Given the description of an element on the screen output the (x, y) to click on. 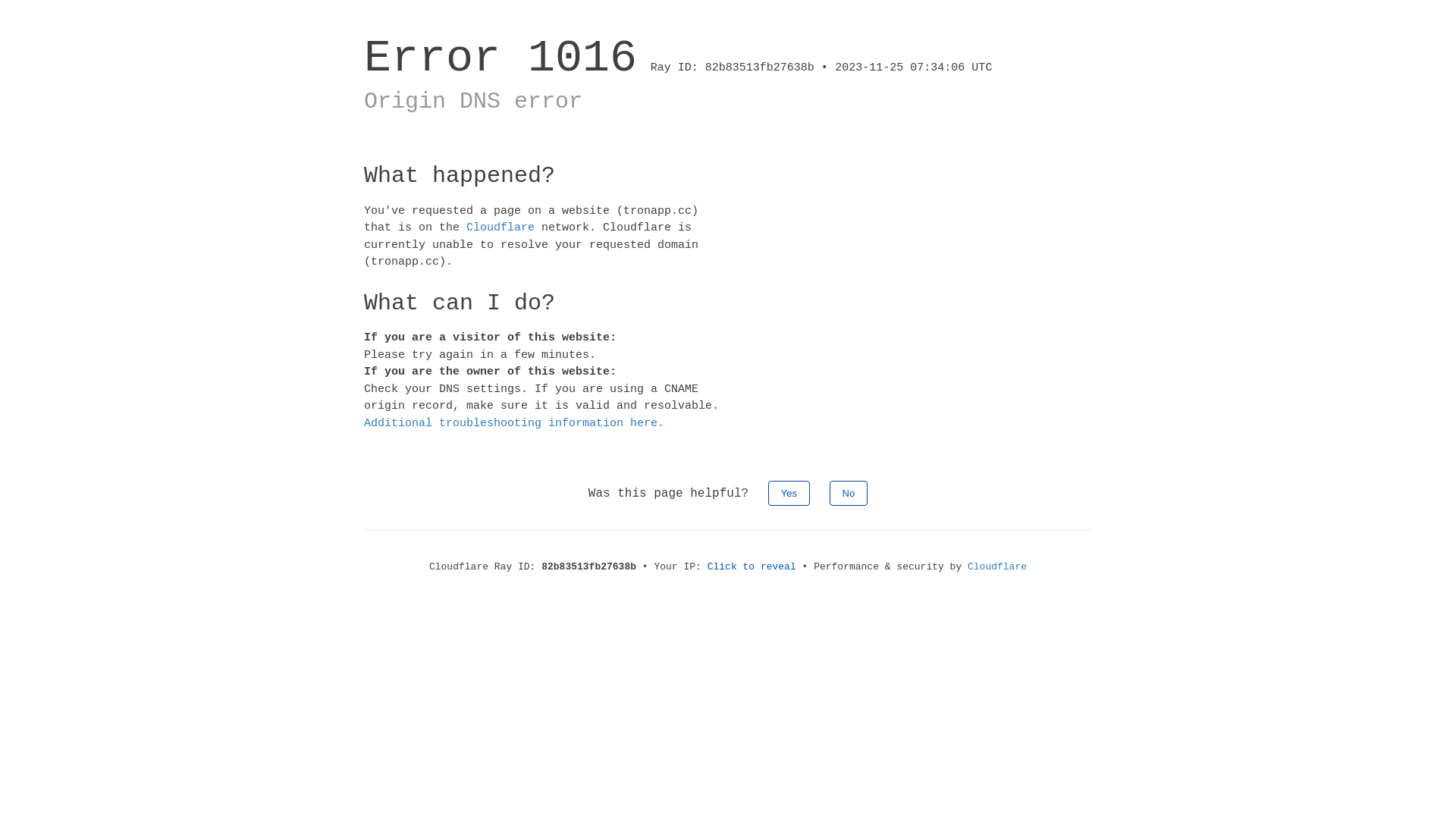
Click to reveal Element type: text (751, 566)
Yes Element type: text (788, 492)
Cloudflare Element type: text (996, 566)
Cloudflare Element type: text (500, 227)
No Element type: text (848, 492)
Additional troubleshooting information here. Element type: text (514, 423)
